Given the description of an element on the screen output the (x, y) to click on. 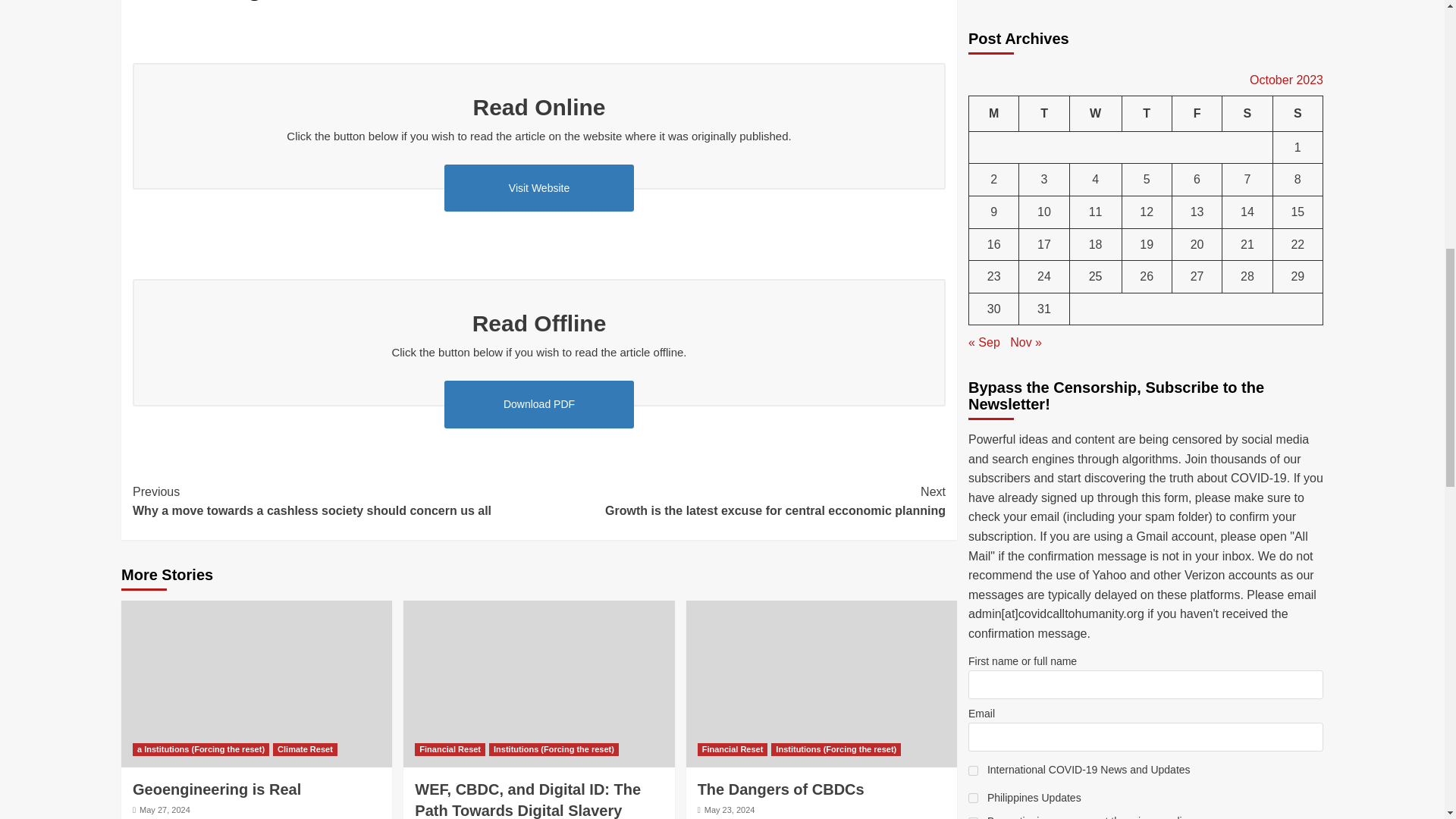
Subscribe (1145, 237)
4 (973, 185)
on (973, 209)
Geoengineering is Real (255, 683)
WEF, CBDC, and Digital ID: The Path Towards Digital Slavery (538, 683)
The Dangers of CBDCs (820, 683)
1 (973, 157)
